Given the description of an element on the screen output the (x, y) to click on. 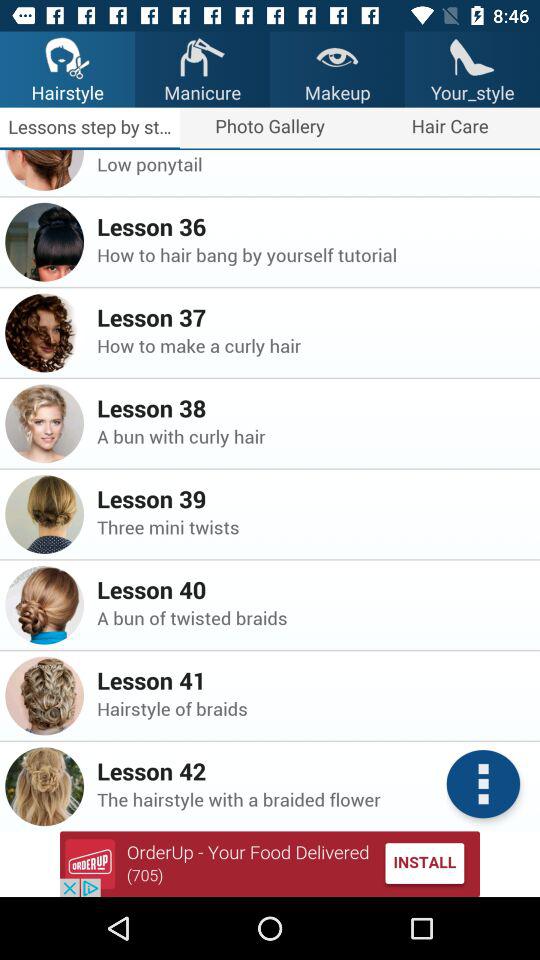
open the item below lesson 35 icon (311, 163)
